Given the description of an element on the screen output the (x, y) to click on. 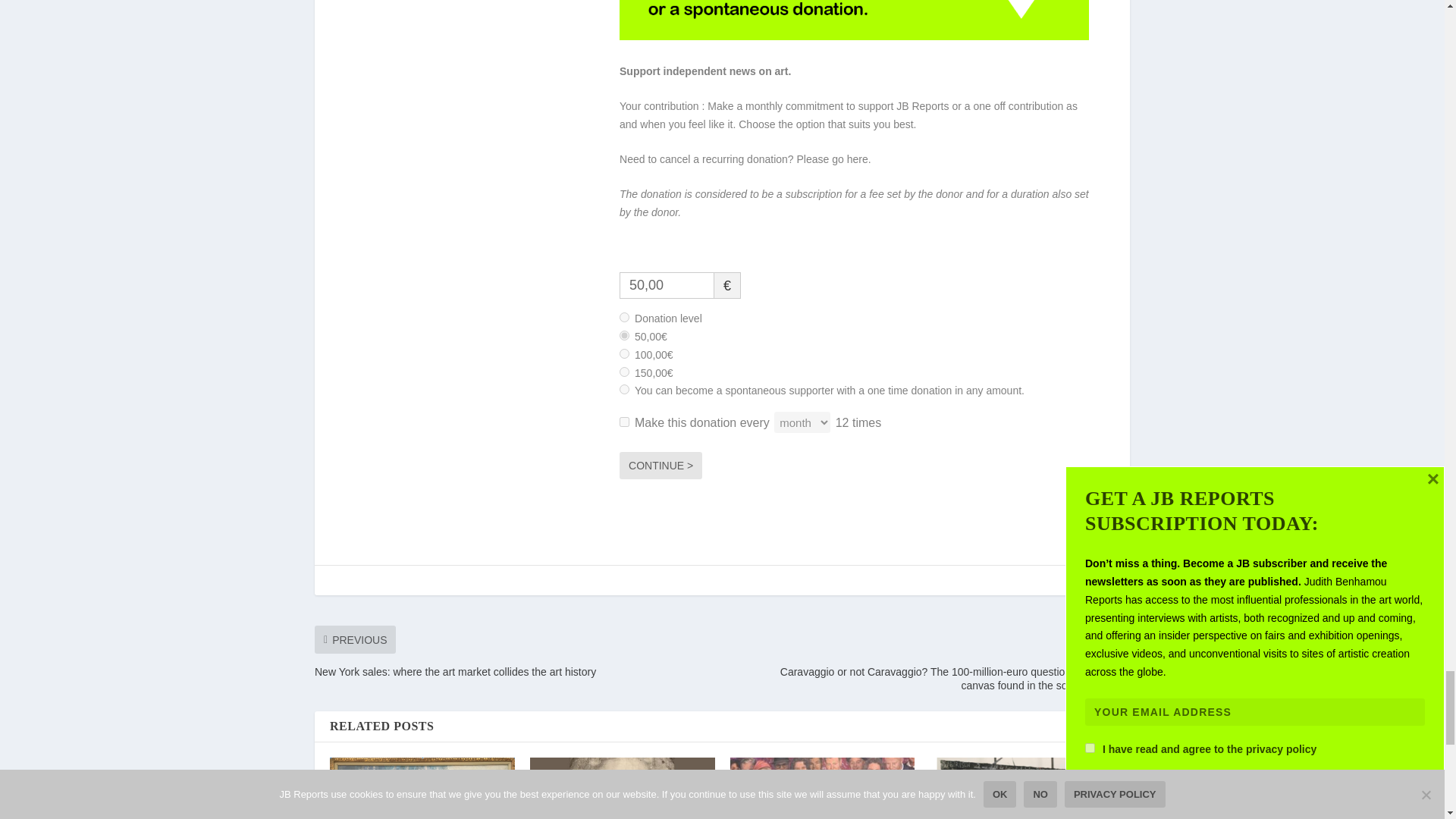
50,00 (667, 284)
custom (624, 388)
100,00 (624, 353)
150,00 (624, 371)
50,00 (624, 335)
on (624, 421)
25,00 (624, 317)
